Given the description of an element on the screen output the (x, y) to click on. 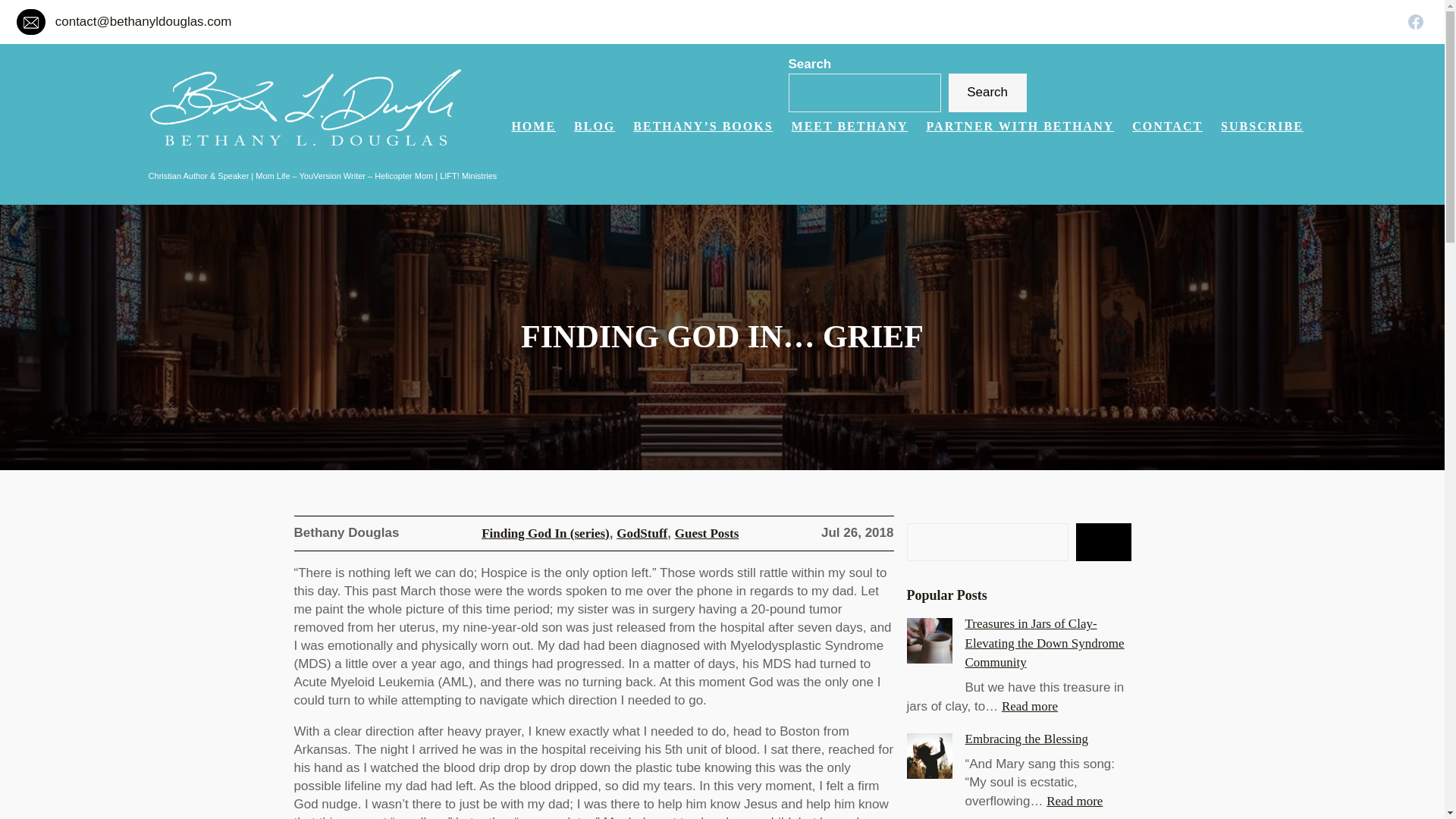
Embracing the Blessing (1026, 739)
Search (987, 92)
SUBSCRIBE (1074, 800)
HOME (1262, 126)
CONTACT (533, 126)
GodStuff (1167, 126)
MEET BETHANY (640, 533)
PARTNER WITH BETHANY (850, 126)
Facebook (1020, 126)
Guest Posts (1415, 22)
